Given the description of an element on the screen output the (x, y) to click on. 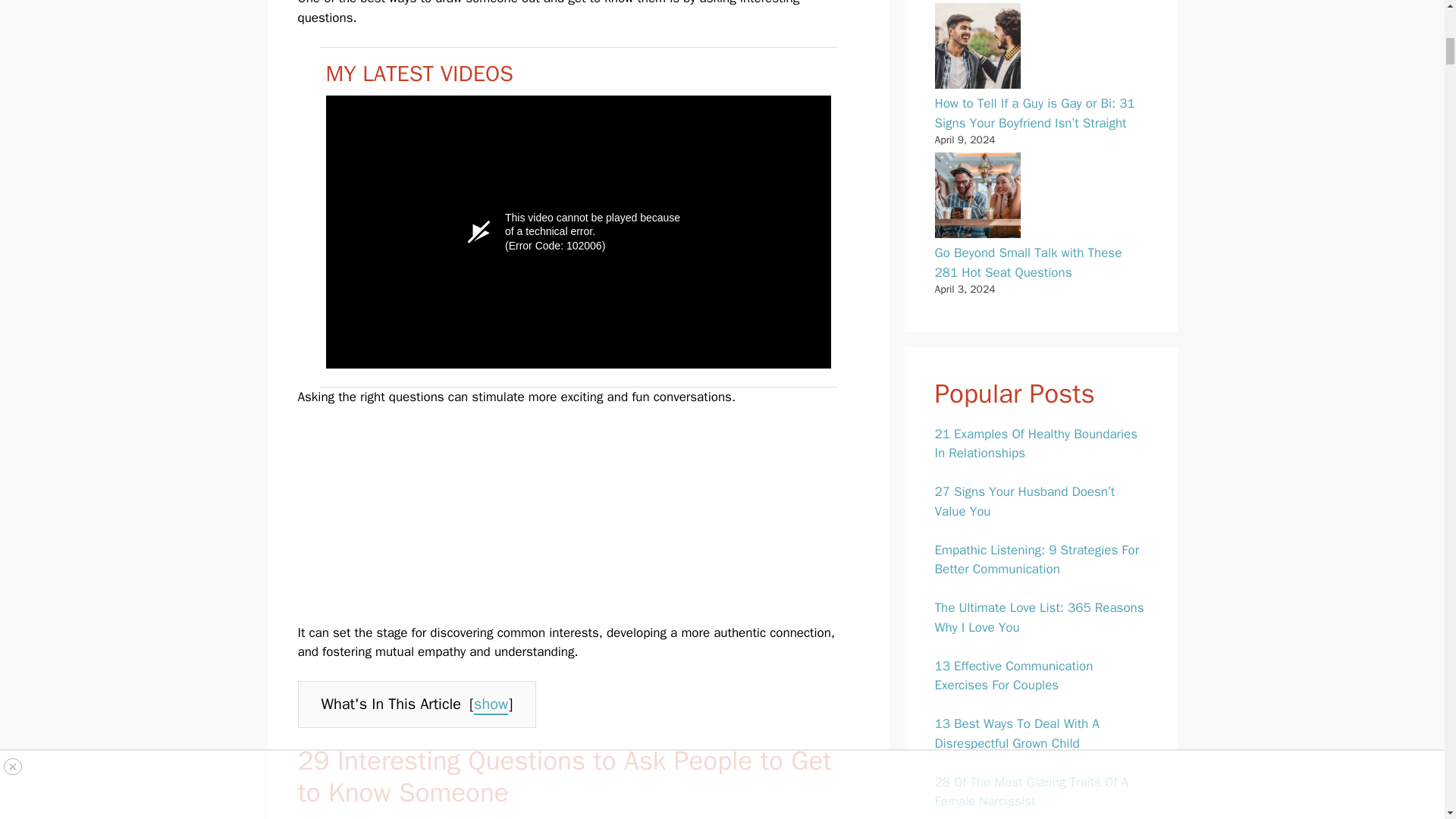
show (491, 704)
